Given the description of an element on the screen output the (x, y) to click on. 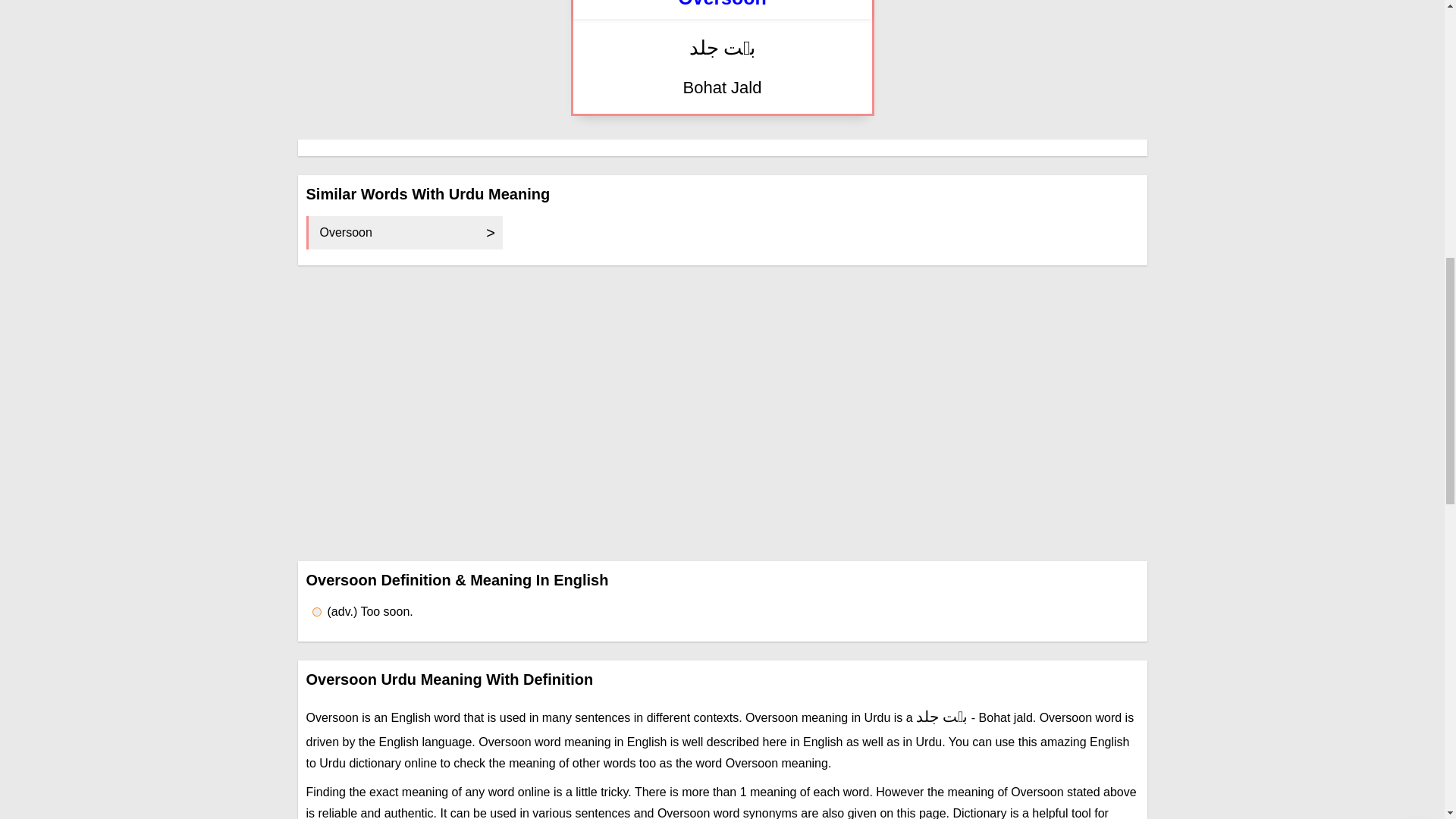
Oversoon (404, 232)
Bohat Jald (722, 87)
Oversoon (722, 4)
